Given the description of an element on the screen output the (x, y) to click on. 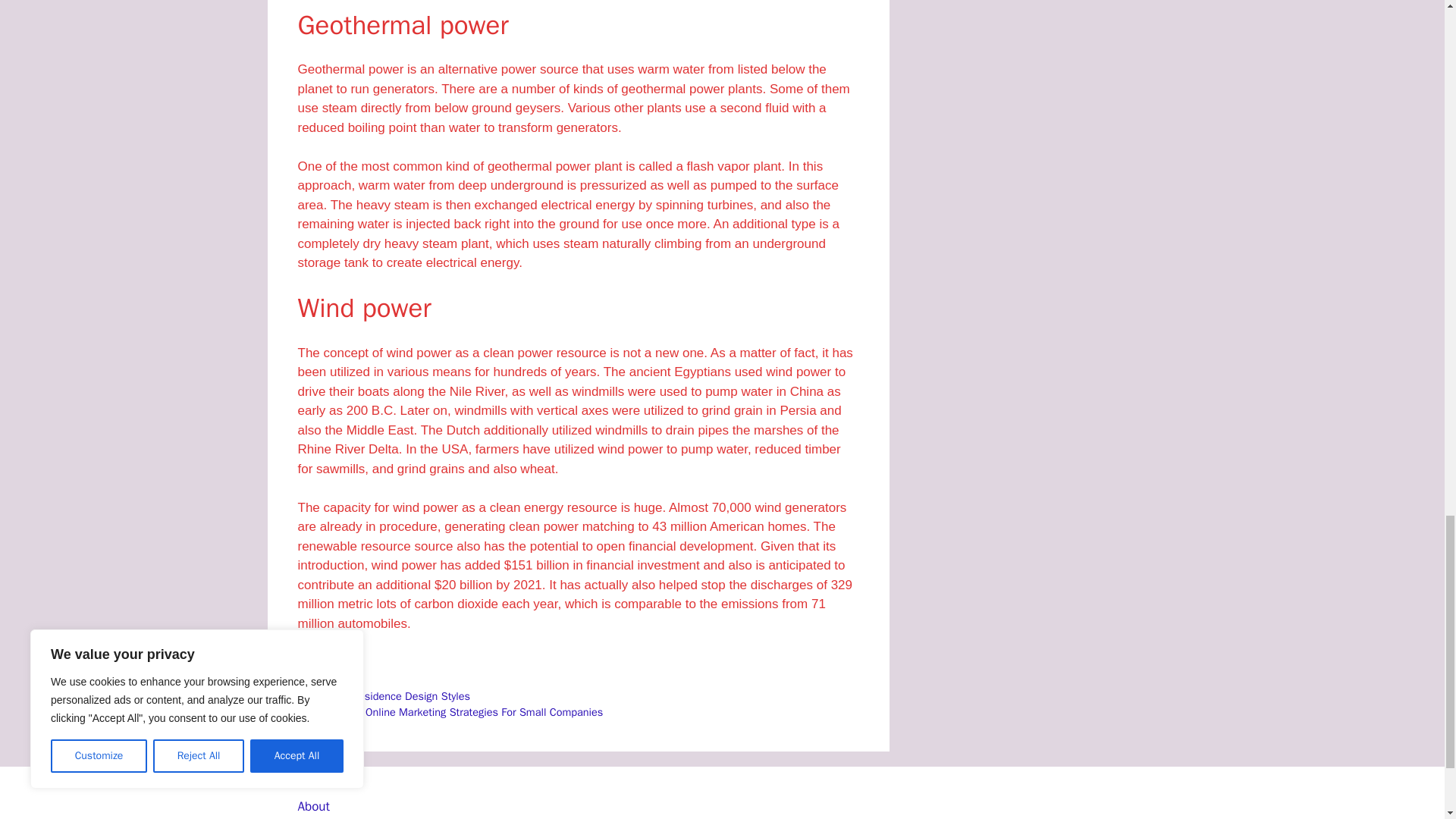
Tech (326, 662)
Leading 5 Online Marketing Strategies For Small Companies (459, 712)
tech (325, 679)
Picking Residence Design Styles (392, 695)
